Given the description of an element on the screen output the (x, y) to click on. 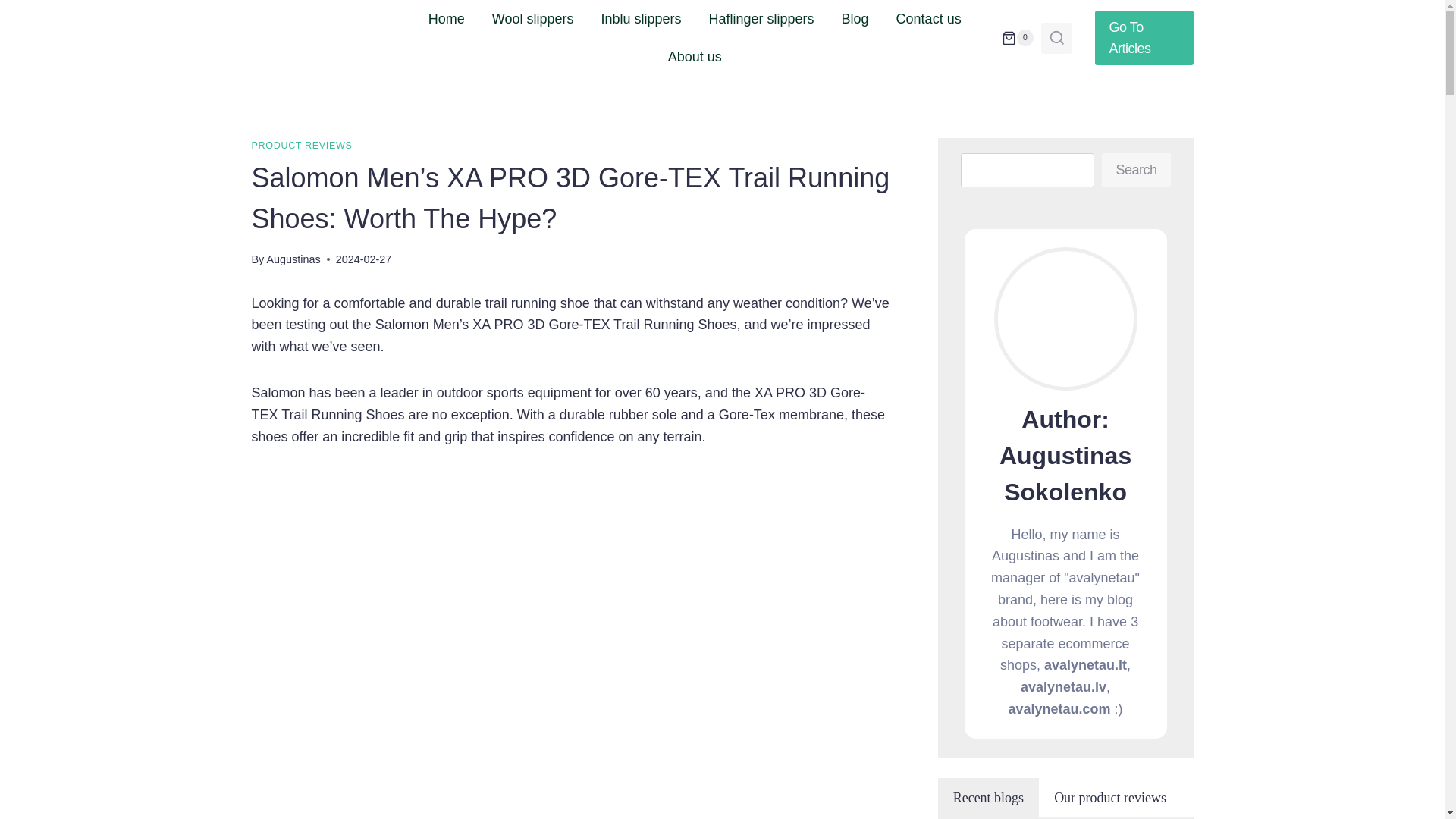
Wool slippers (533, 18)
0 (1017, 37)
About us (694, 56)
Inblu slippers (640, 18)
Blog (855, 18)
Haflinger slippers (760, 18)
Contact us (928, 18)
Go To Articles (1143, 37)
PRODUCT REVIEWS (301, 145)
Home (446, 18)
Augustinas (293, 259)
